Given the description of an element on the screen output the (x, y) to click on. 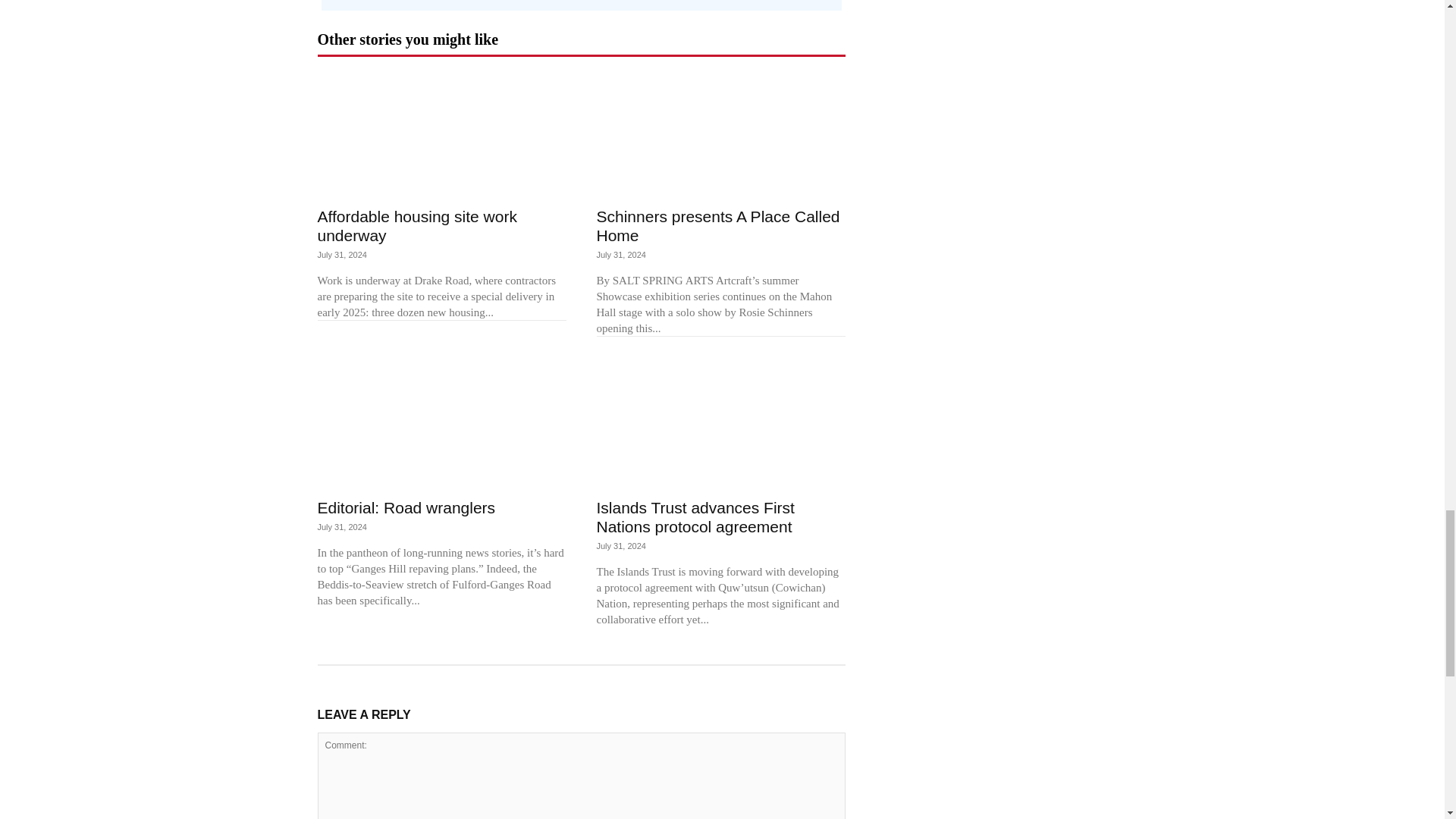
Affordable housing site work underway (416, 226)
Affordable housing site work underway (441, 134)
Islands Trust advances First Nations protocol agreement (719, 425)
Editorial: Road wranglers (406, 507)
Schinners presents A Place Called Home (717, 226)
Schinners presents A Place Called Home (719, 134)
Editorial: Road wranglers (441, 425)
